Given the description of an element on the screen output the (x, y) to click on. 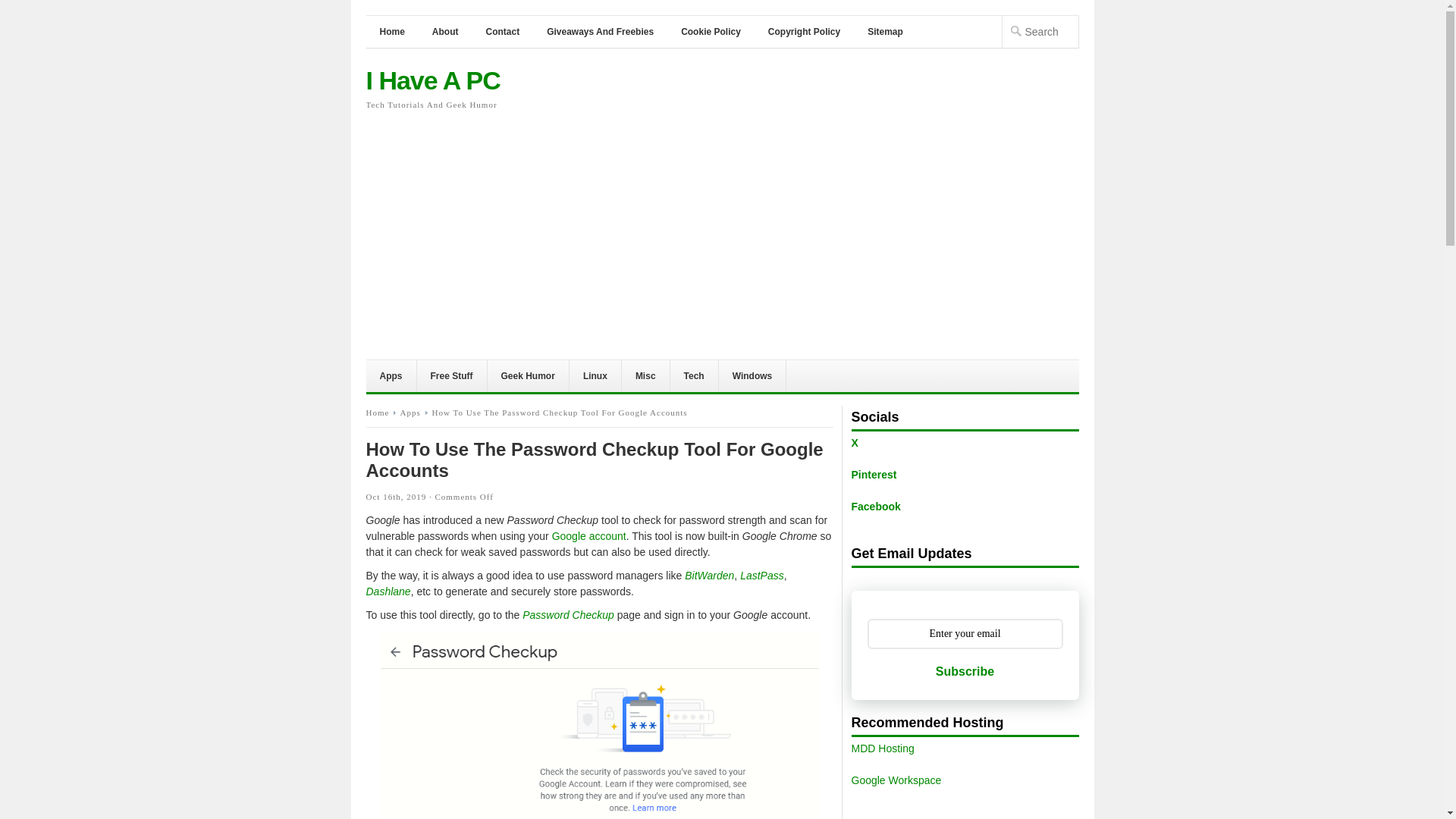
LastPass (761, 575)
Dashlane (387, 591)
Google account (588, 535)
Misc (645, 376)
Windows (753, 376)
Copyright Policy (803, 31)
Home (380, 411)
Geek Humor (528, 376)
Pinterest (873, 474)
Contact (501, 31)
